Given the description of an element on the screen output the (x, y) to click on. 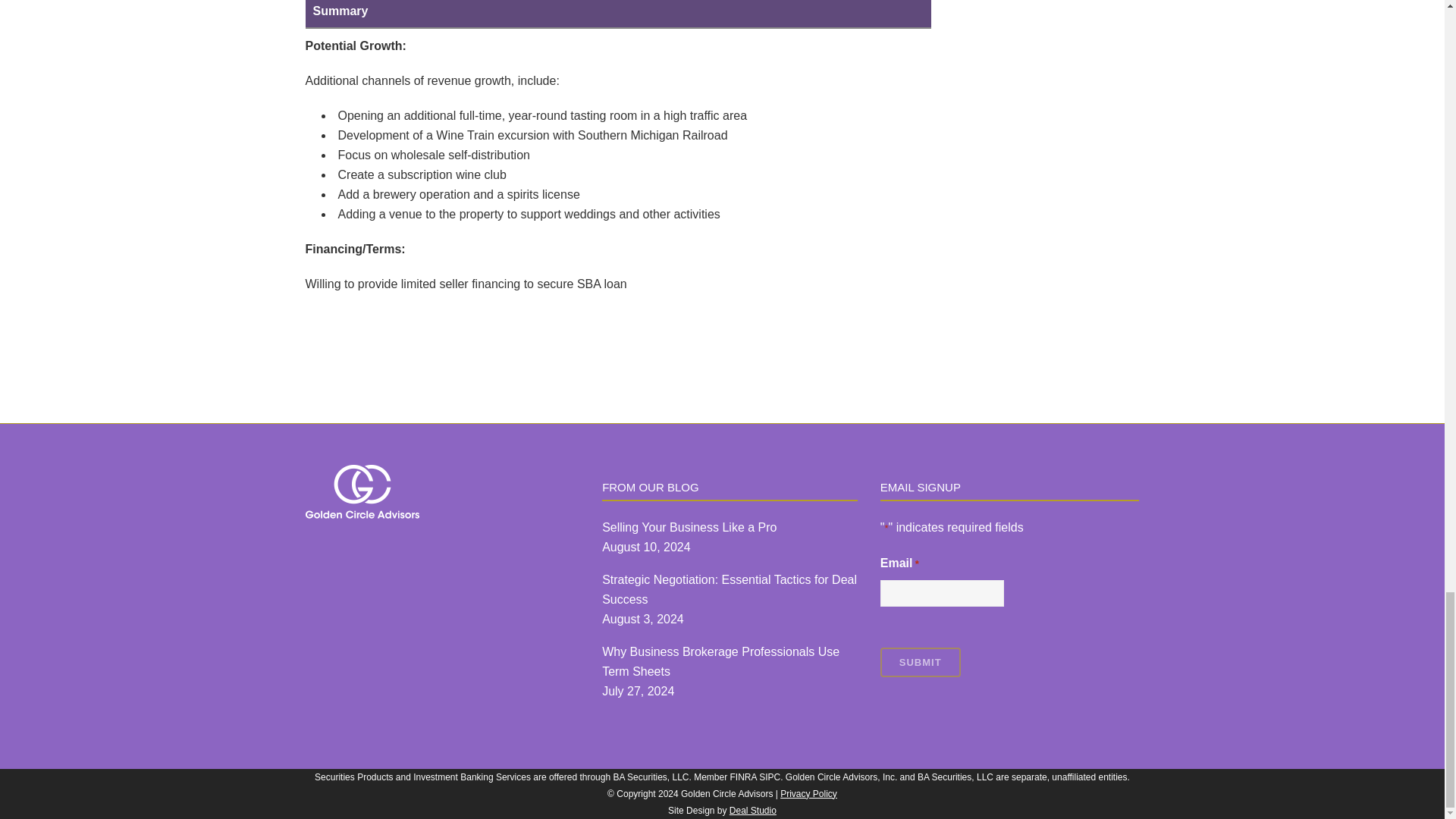
Why Business Brokerage Professionals Use Term Sheets (729, 661)
Submit (920, 662)
Submit (920, 662)
Selling Your Business Like a Pro (729, 527)
Strategic Negotiation: Essential Tactics for Deal Success (729, 589)
Privacy Policy (808, 793)
